Given the description of an element on the screen output the (x, y) to click on. 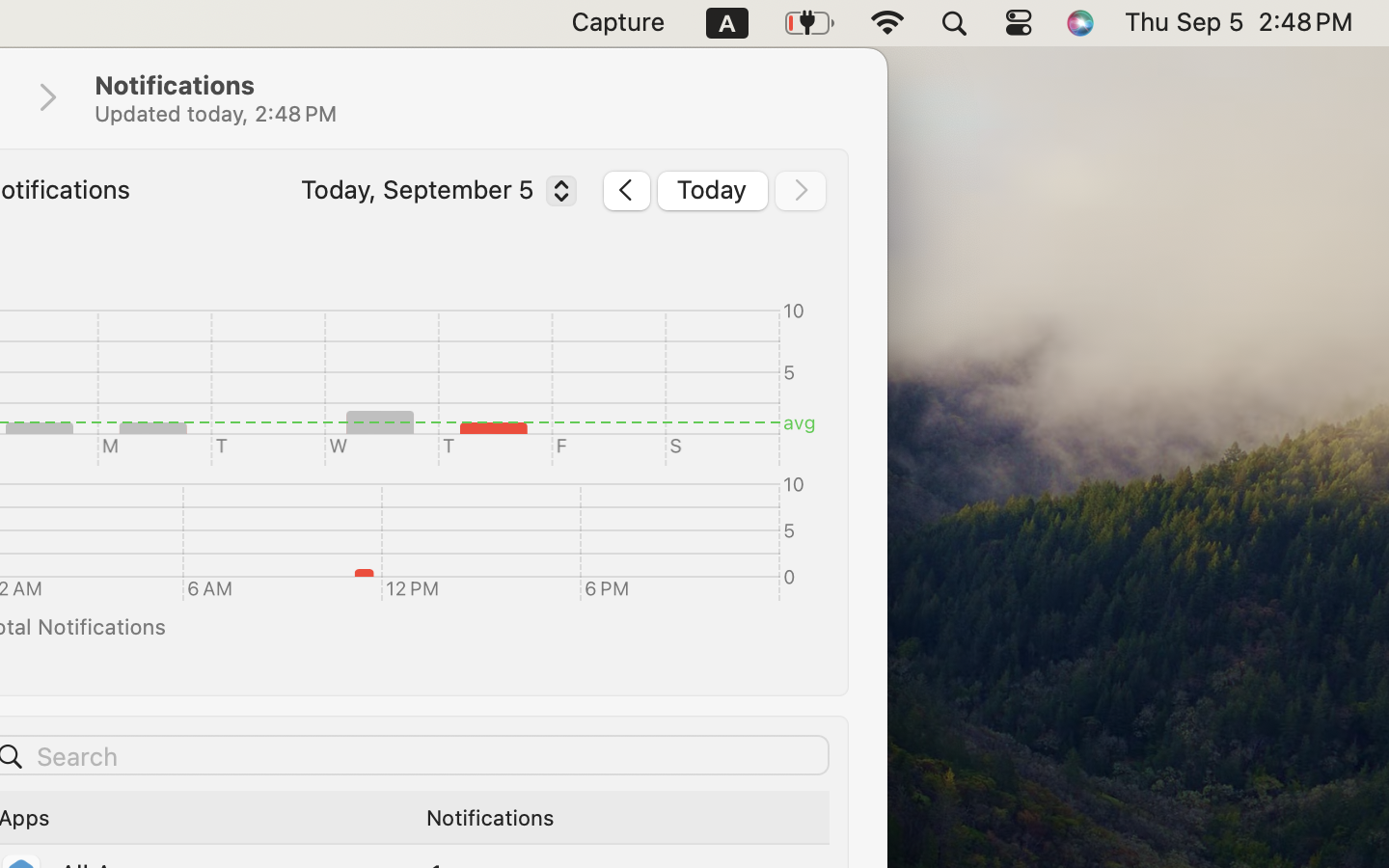
Notifications Element type: AXStaticText (470, 98)
Today, September 5 Element type: AXPopUpButton (433, 193)
